Given the description of an element on the screen output the (x, y) to click on. 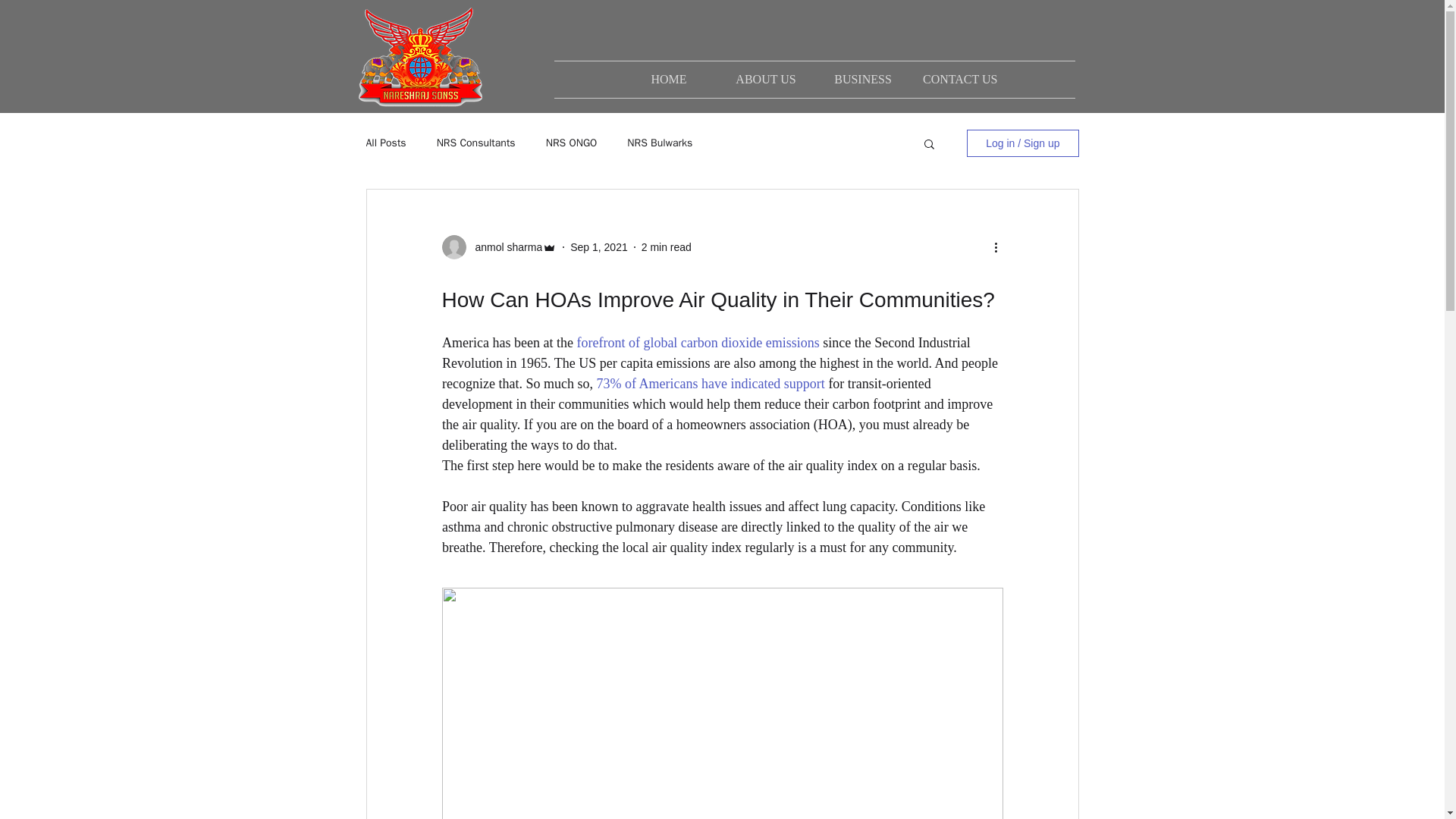
NRS ONGO (571, 142)
NRS Consultants (475, 142)
anmol sharma (503, 247)
2 min read (666, 246)
Sep 1, 2021 (598, 246)
CONTACT US (960, 79)
HOME (668, 79)
NRS Bulwarks (660, 142)
All Posts (385, 142)
ABOUT US (765, 79)
